Given the description of an element on the screen output the (x, y) to click on. 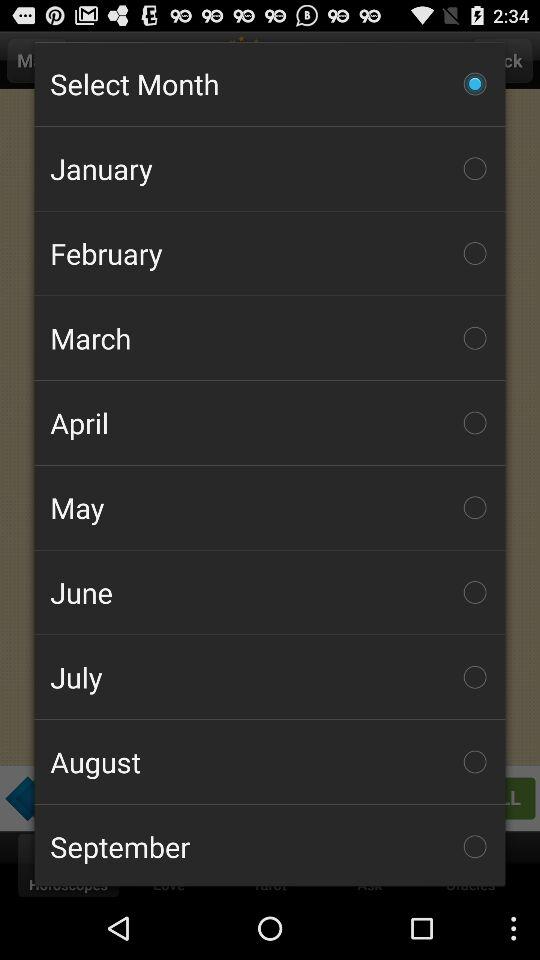
swipe to the select month icon (269, 83)
